Given the description of an element on the screen output the (x, y) to click on. 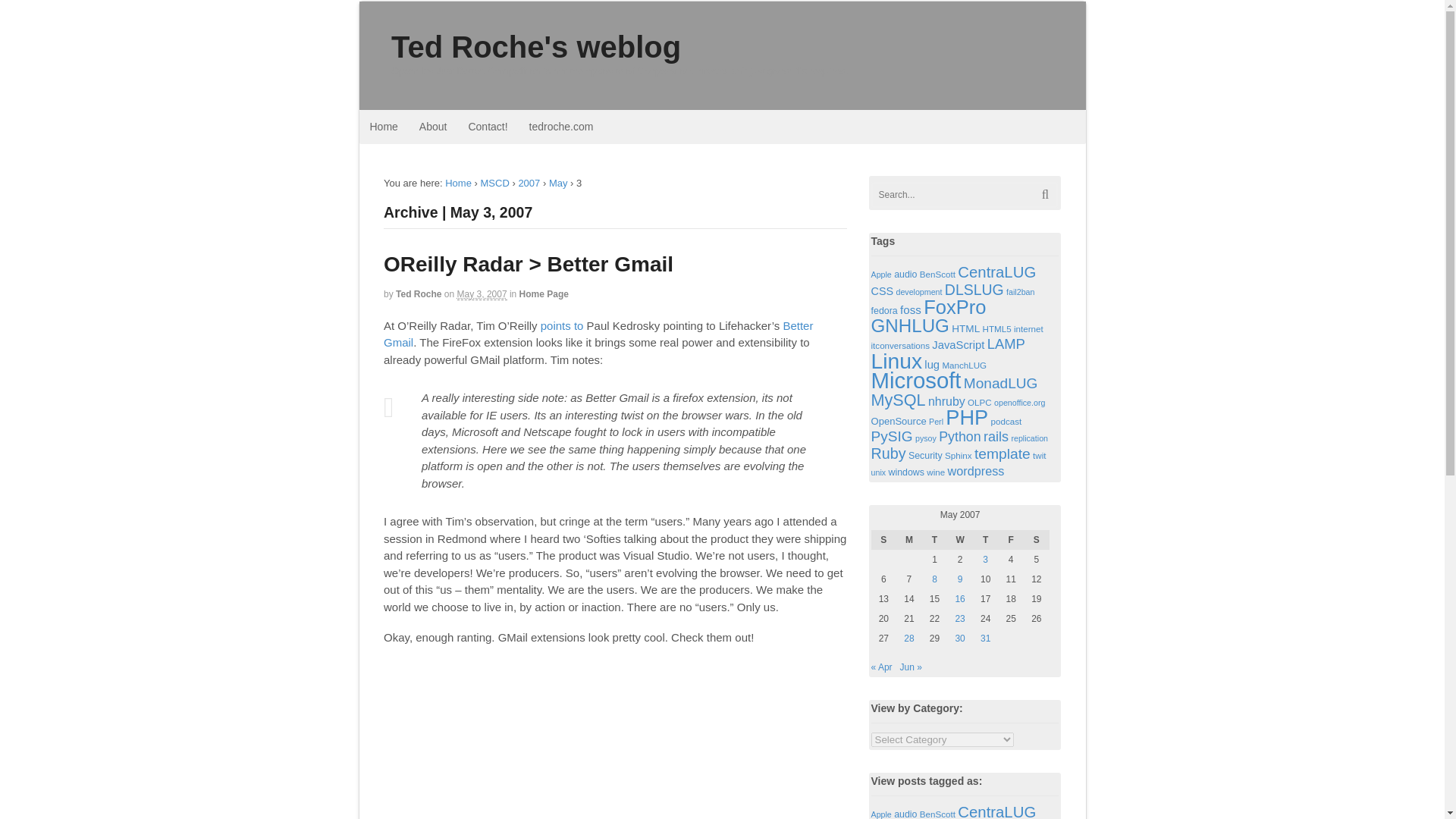
Ted Roche's weblog (458, 183)
Better Gmail (598, 334)
Microsoft (915, 380)
May (557, 183)
ManchLUG (964, 365)
HTML5 (996, 328)
May (557, 183)
Linux (895, 360)
lug (931, 364)
points to (561, 325)
